Given the description of an element on the screen output the (x, y) to click on. 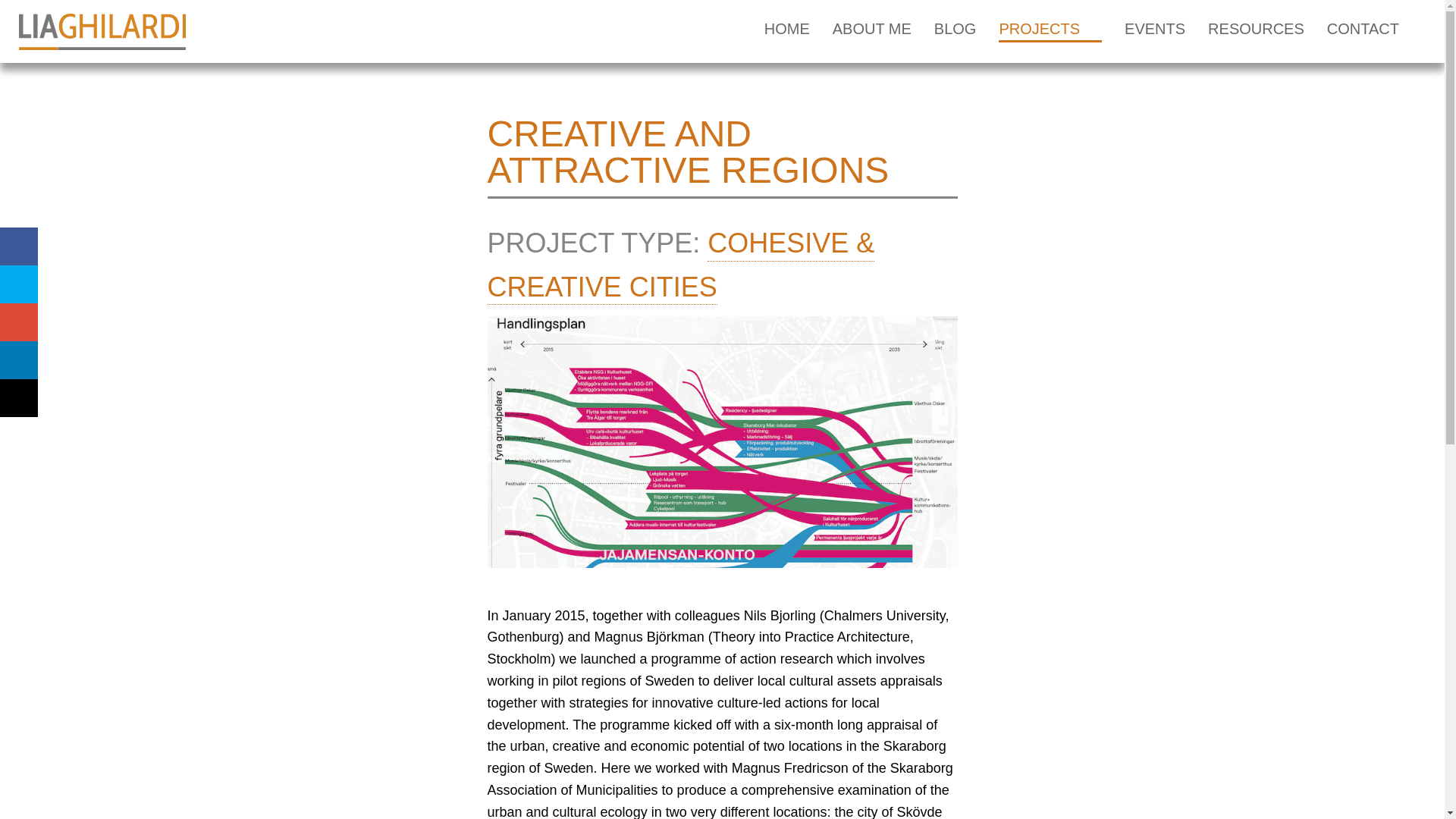
CONTACT (1362, 31)
PROJECTS (1050, 31)
EVENTS (1154, 31)
ABOUT ME (871, 31)
HOME (786, 31)
BLOG (955, 31)
RESOURCES (1256, 31)
Lia Ghilardi (102, 31)
